Given the description of an element on the screen output the (x, y) to click on. 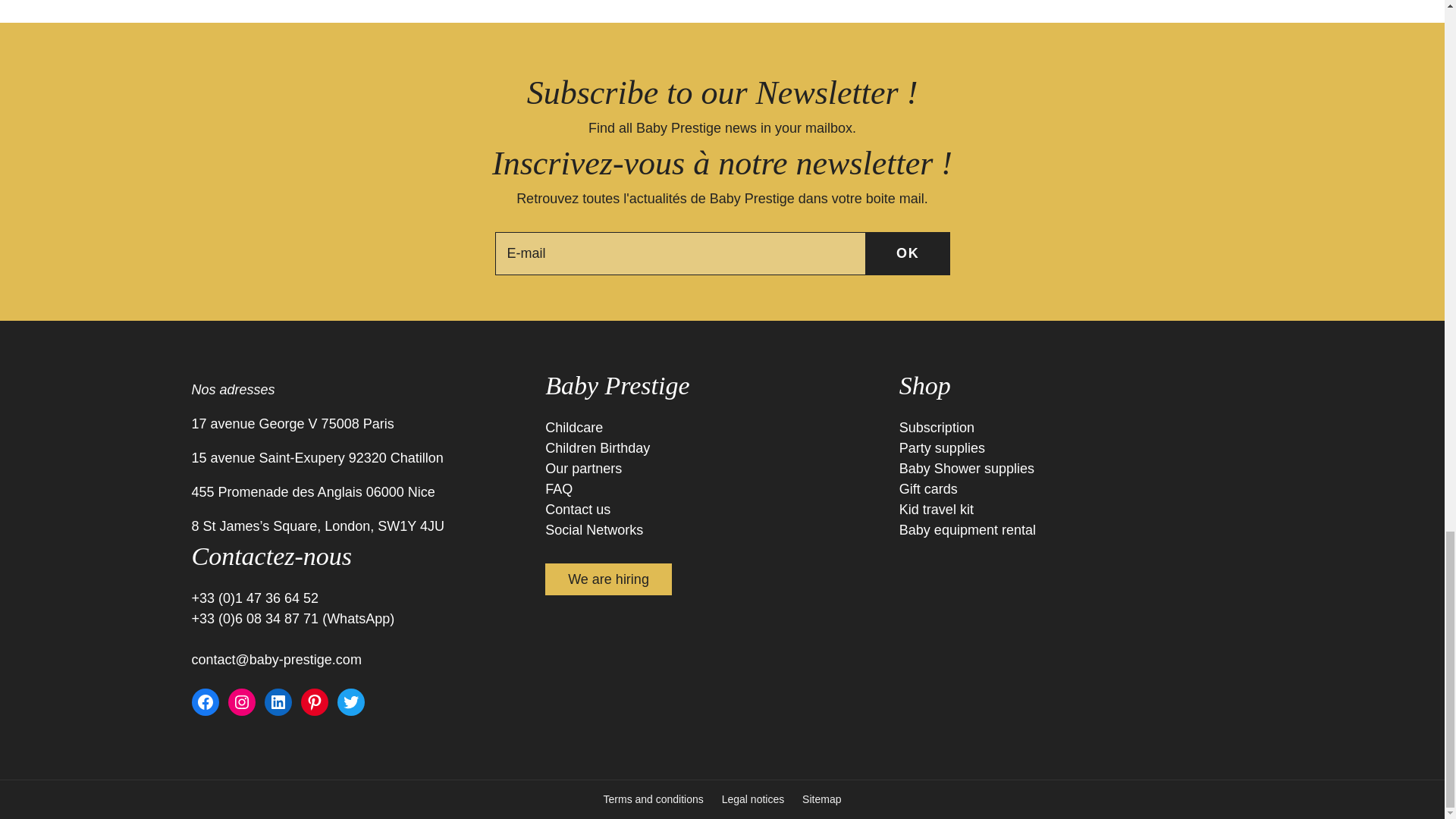
OK (908, 253)
